Given the description of an element on the screen output the (x, y) to click on. 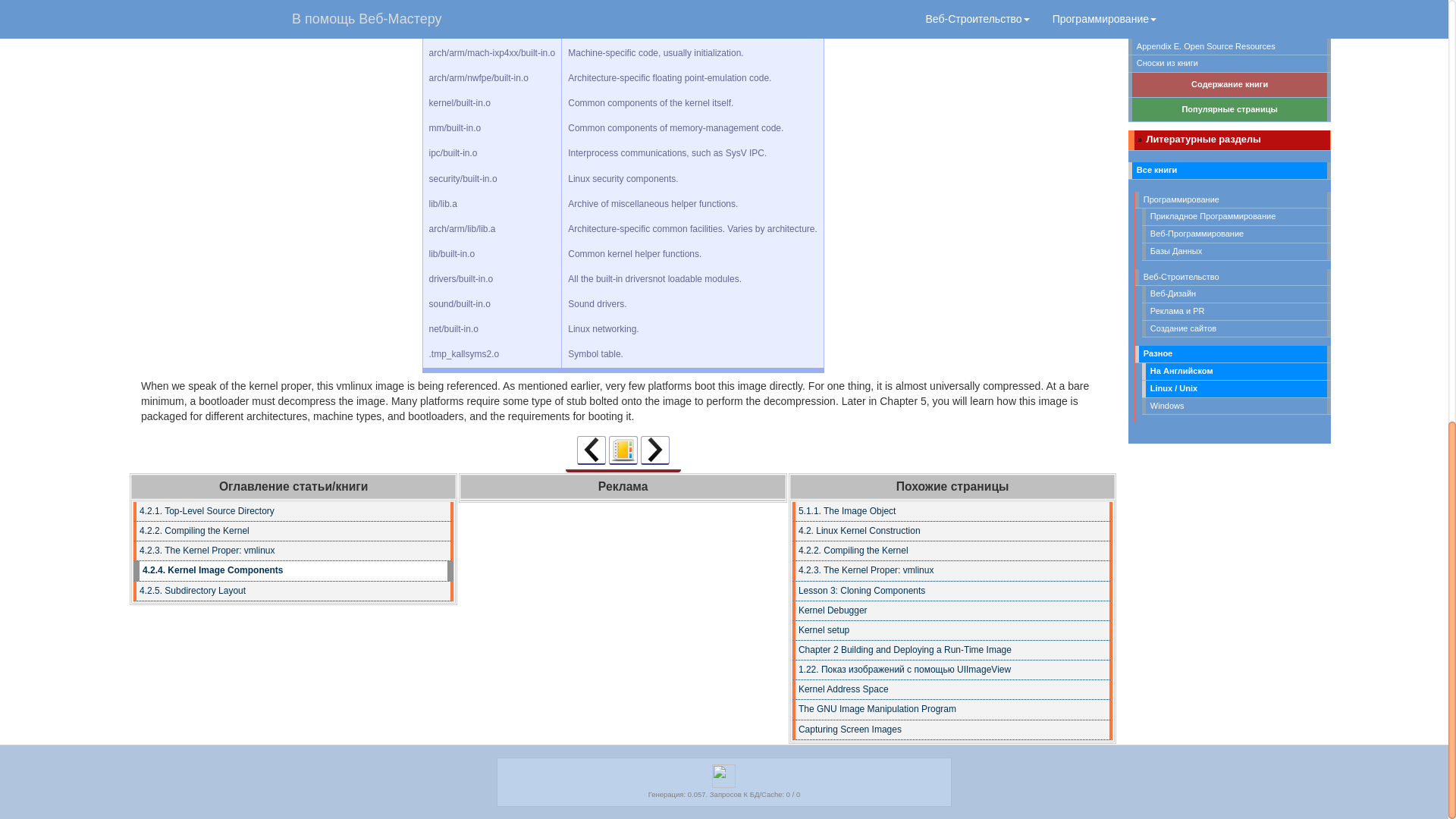
Kernel setup (952, 630)
Kernel Address Space (952, 690)
4.2.3. The Kernel Proper: vmlinux (952, 570)
4.2.5. Subdirectory Layout (654, 450)
4.2. Linux Kernel Construction (952, 531)
4.2.1. Top-Level Source Directory (292, 511)
4.2. Linux Kernel Construction (952, 531)
4.2.2. Compiling the Kernel (292, 531)
The GNU Image Manipulation Program (952, 709)
4.2.3. The Kernel Proper: vmlinux (292, 551)
4.2.5. Subdirectory Layout (292, 591)
Chapter 2 Building and Deploying a Run-Time Image (952, 650)
4.2.4. Kernel Image Components (292, 570)
5.1.1. The Image Object (952, 511)
Kernel Debugger (952, 610)
